Given the description of an element on the screen output the (x, y) to click on. 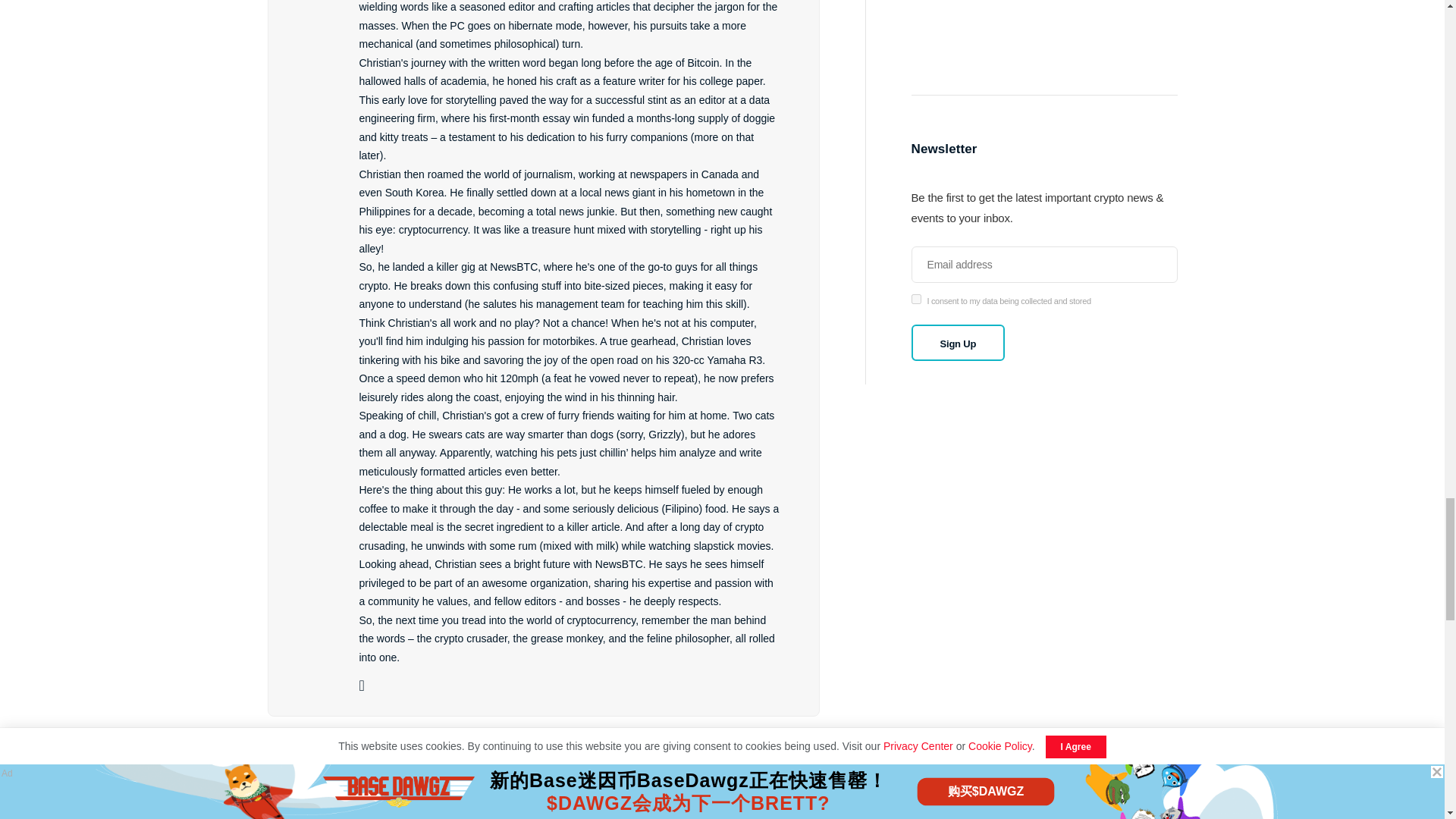
Sign Up (958, 342)
I consent to my data being collected and stored (916, 298)
